Given the description of an element on the screen output the (x, y) to click on. 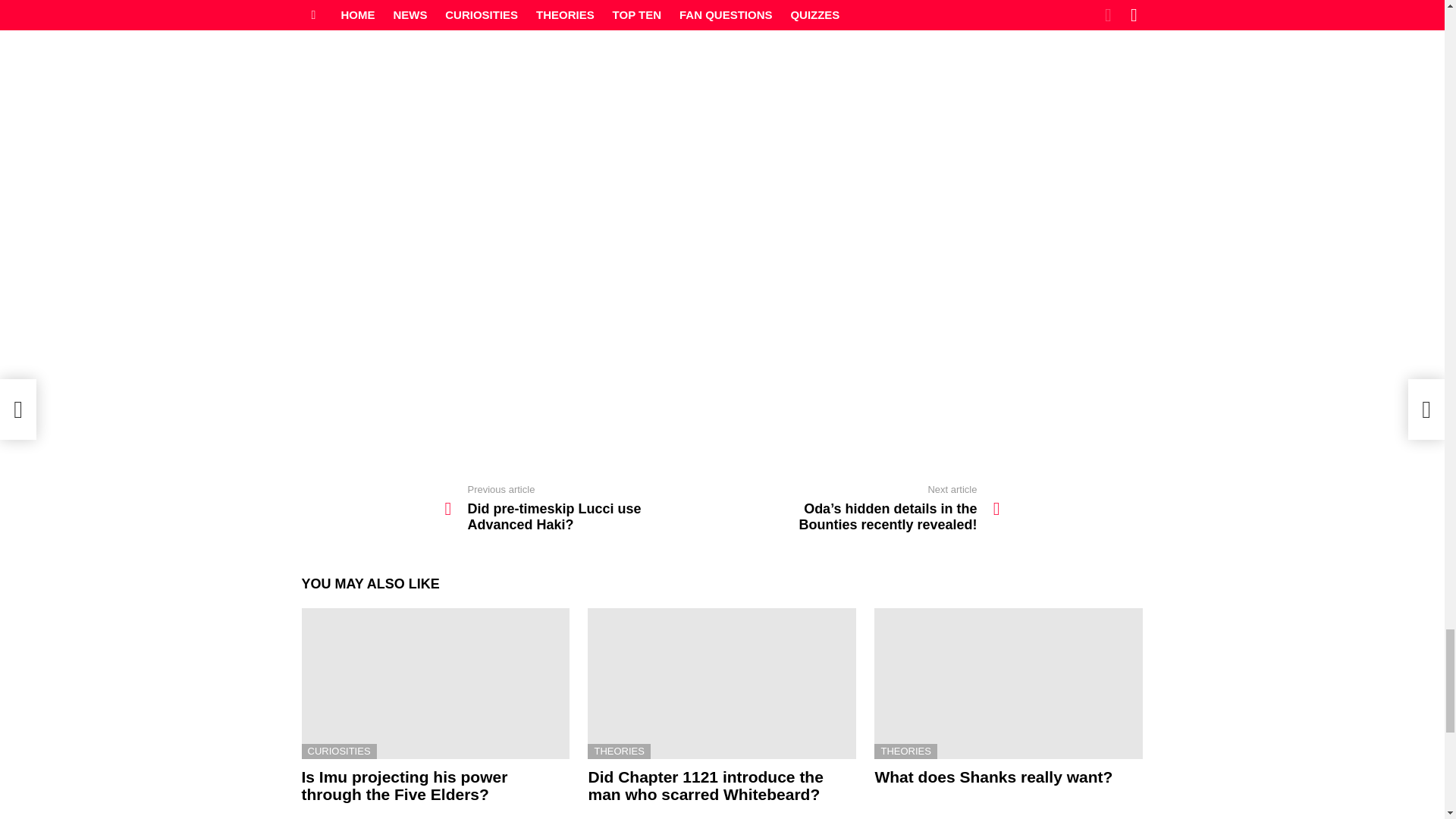
Did Chapter 1121 introduce the man who scarred Whitebeard? (705, 785)
What does Shanks really want? (993, 776)
CURIOSITIES (339, 751)
Did Chapter 1121 introduce the man who scarred Whitebeard? (722, 683)
THEORIES (905, 751)
What does Shanks really want? (583, 508)
Is Imu projecting his power through the Five Elders? (1008, 683)
Is Imu projecting his power through the Five Elders? (435, 683)
THEORIES (404, 785)
